Given the description of an element on the screen output the (x, y) to click on. 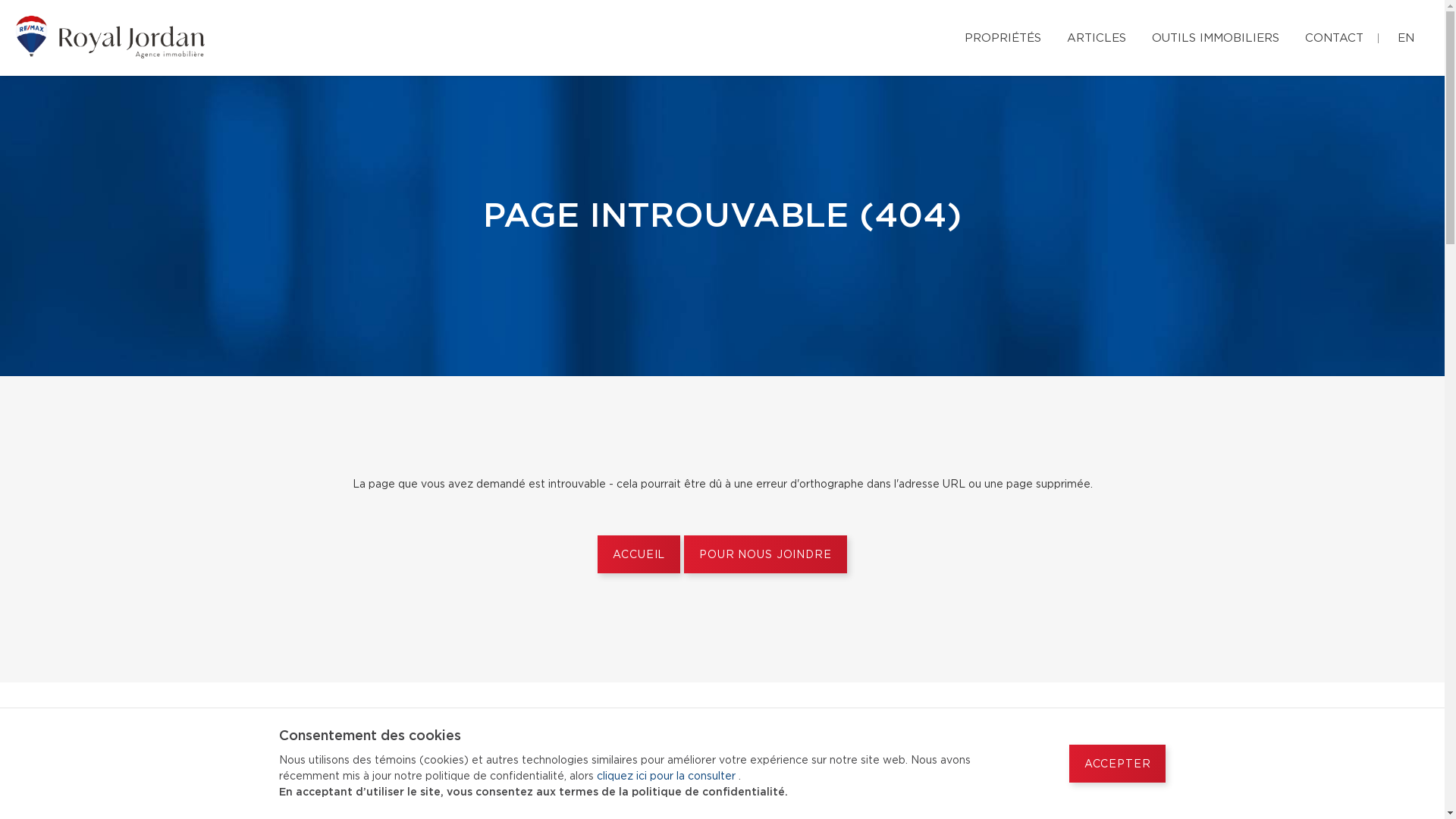
EN Element type: text (1405, 37)
ARTICLES Element type: text (1096, 37)
cliquez ici pour la consulter Element type: text (666, 776)
ACCUEIL Element type: text (638, 554)
CONTACT Element type: text (1334, 37)
ACCEPTER Element type: text (1117, 763)
POUR NOUS JOINDRE Element type: text (765, 554)
OUTILS IMMOBILIERS Element type: text (1215, 37)
